Given the description of an element on the screen output the (x, y) to click on. 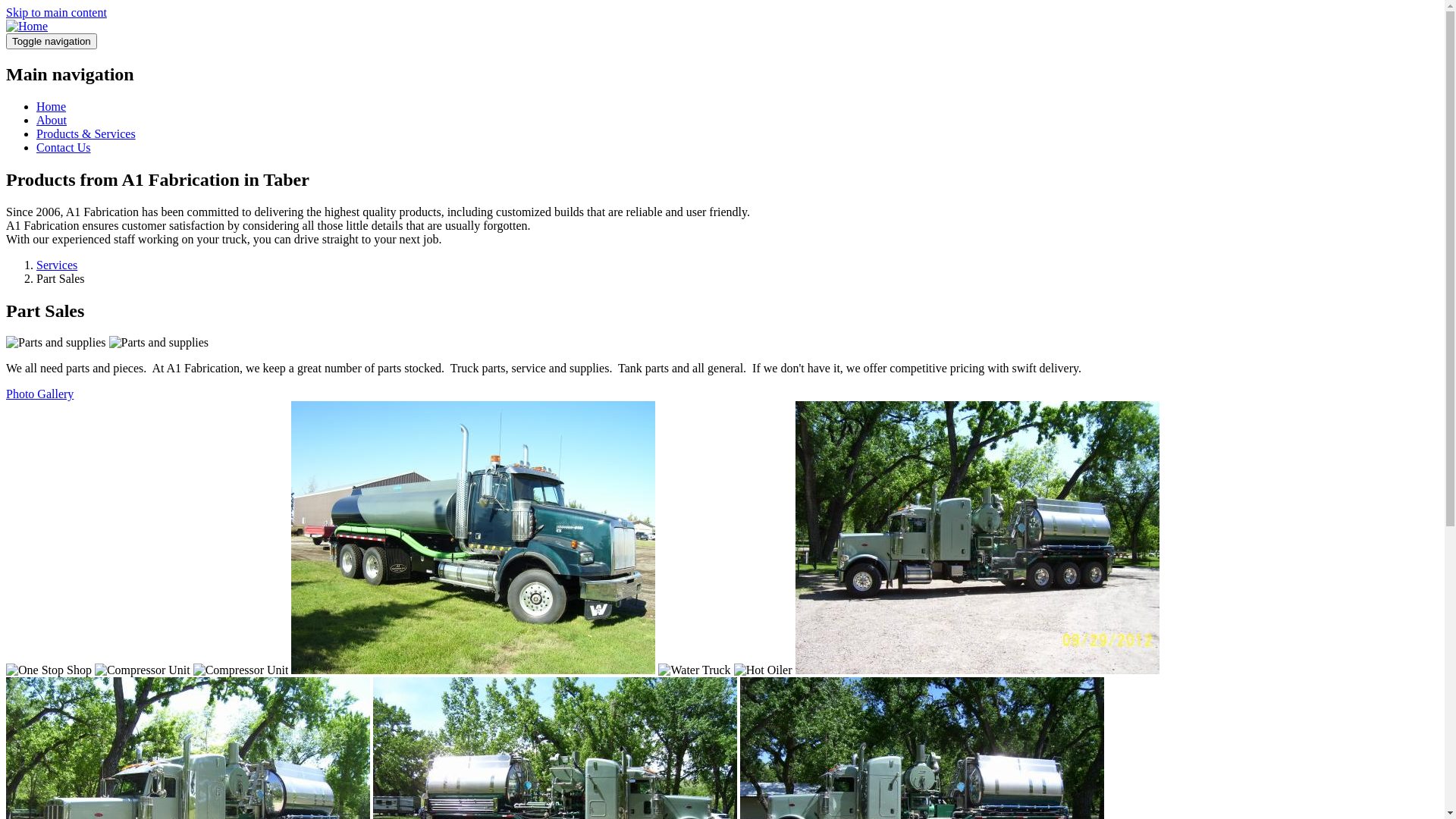
Photo Gallery Element type: text (39, 393)
Skip to main content Element type: text (56, 12)
Toggle navigation Element type: text (51, 41)
Contact Us Element type: text (63, 147)
About Element type: text (51, 119)
Home Element type: hover (26, 25)
Home Element type: text (50, 106)
Products & Services Element type: text (85, 133)
Services Element type: text (56, 264)
